Given the description of an element on the screen output the (x, y) to click on. 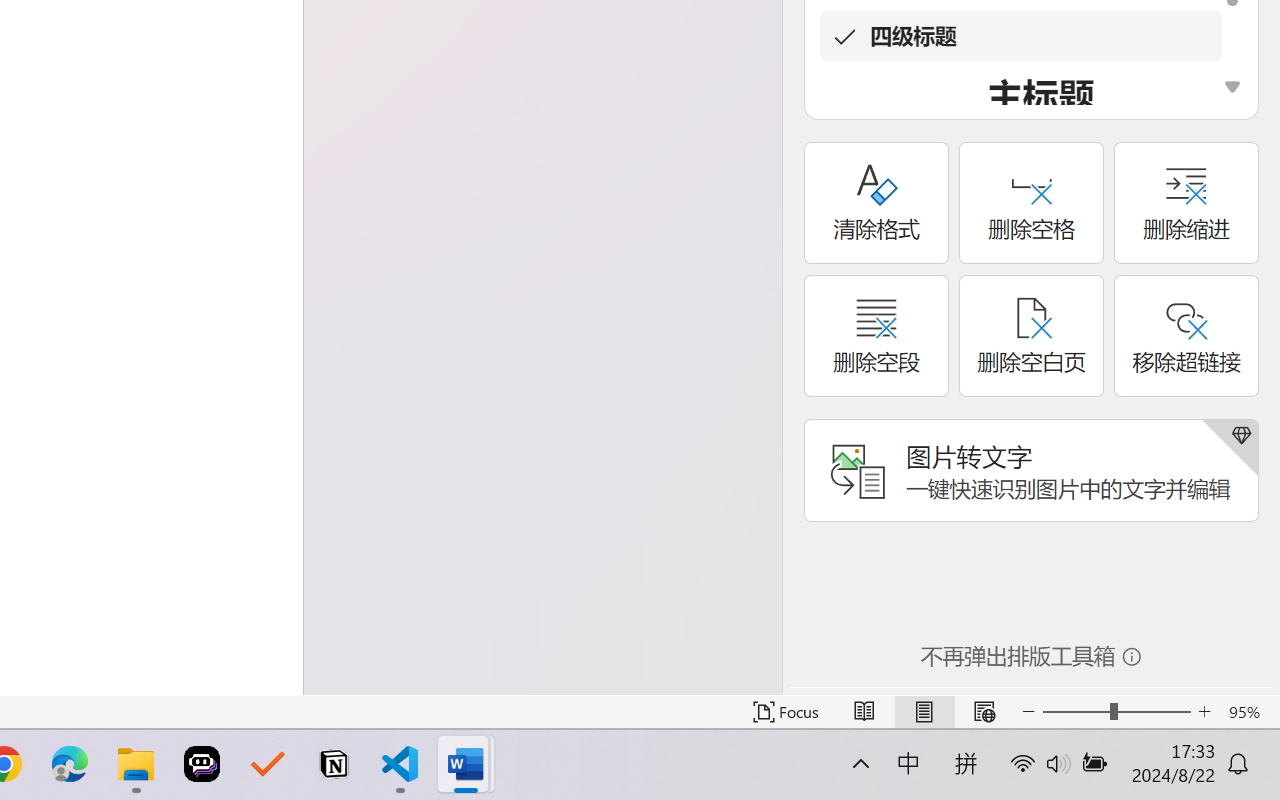
Zoom 95% (1249, 712)
